Given the description of an element on the screen output the (x, y) to click on. 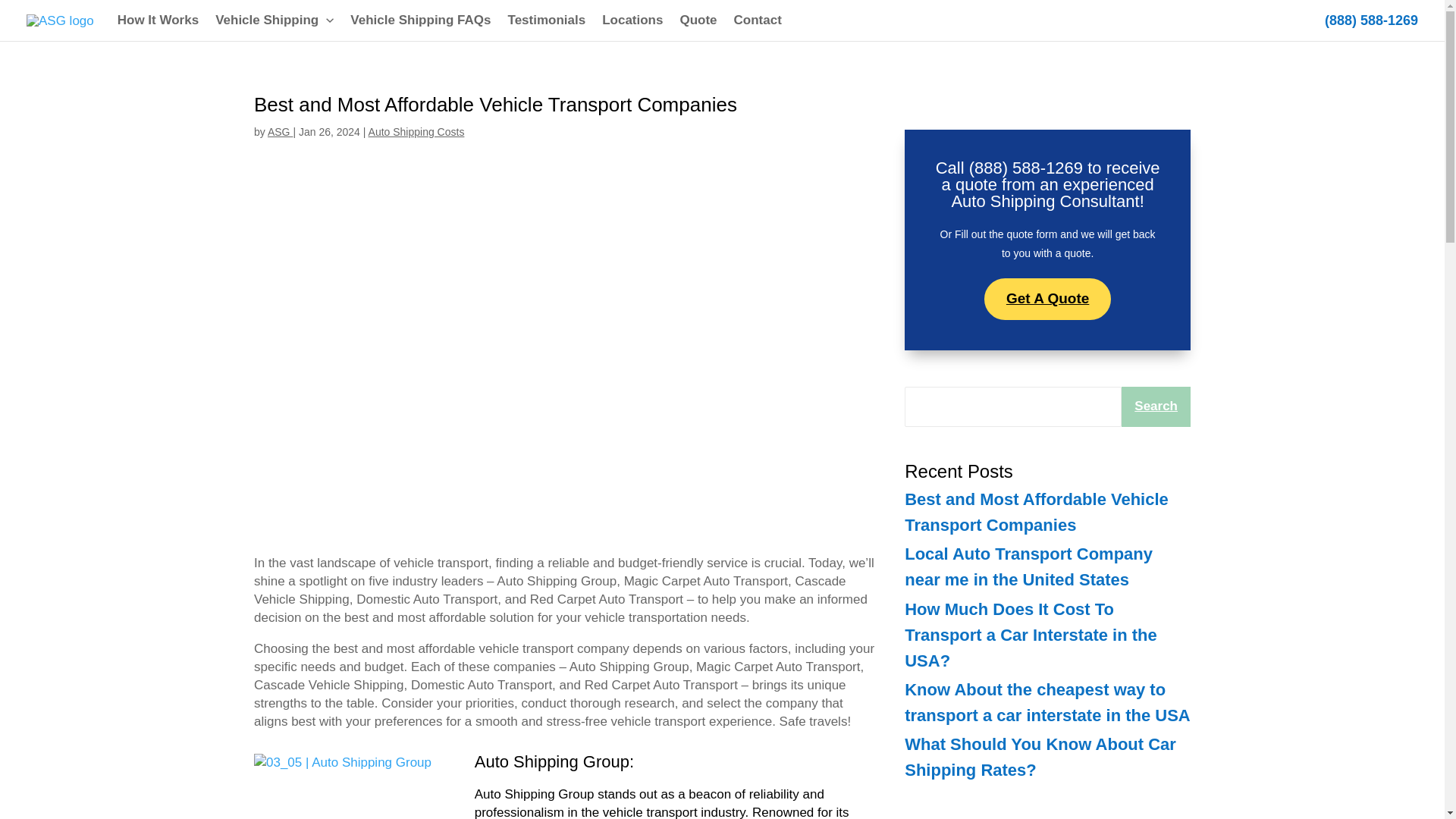
Locations (632, 20)
Testimonials (546, 20)
Vehicle Shipping FAQs (420, 20)
Auto Shipping Costs (416, 132)
Auto Shipping Group: (553, 761)
Vehicle Shipping (274, 20)
Quote (698, 20)
ASG (279, 132)
How It Works (157, 20)
Contact (757, 20)
View all posts by ASG (279, 132)
